Given the description of an element on the screen output the (x, y) to click on. 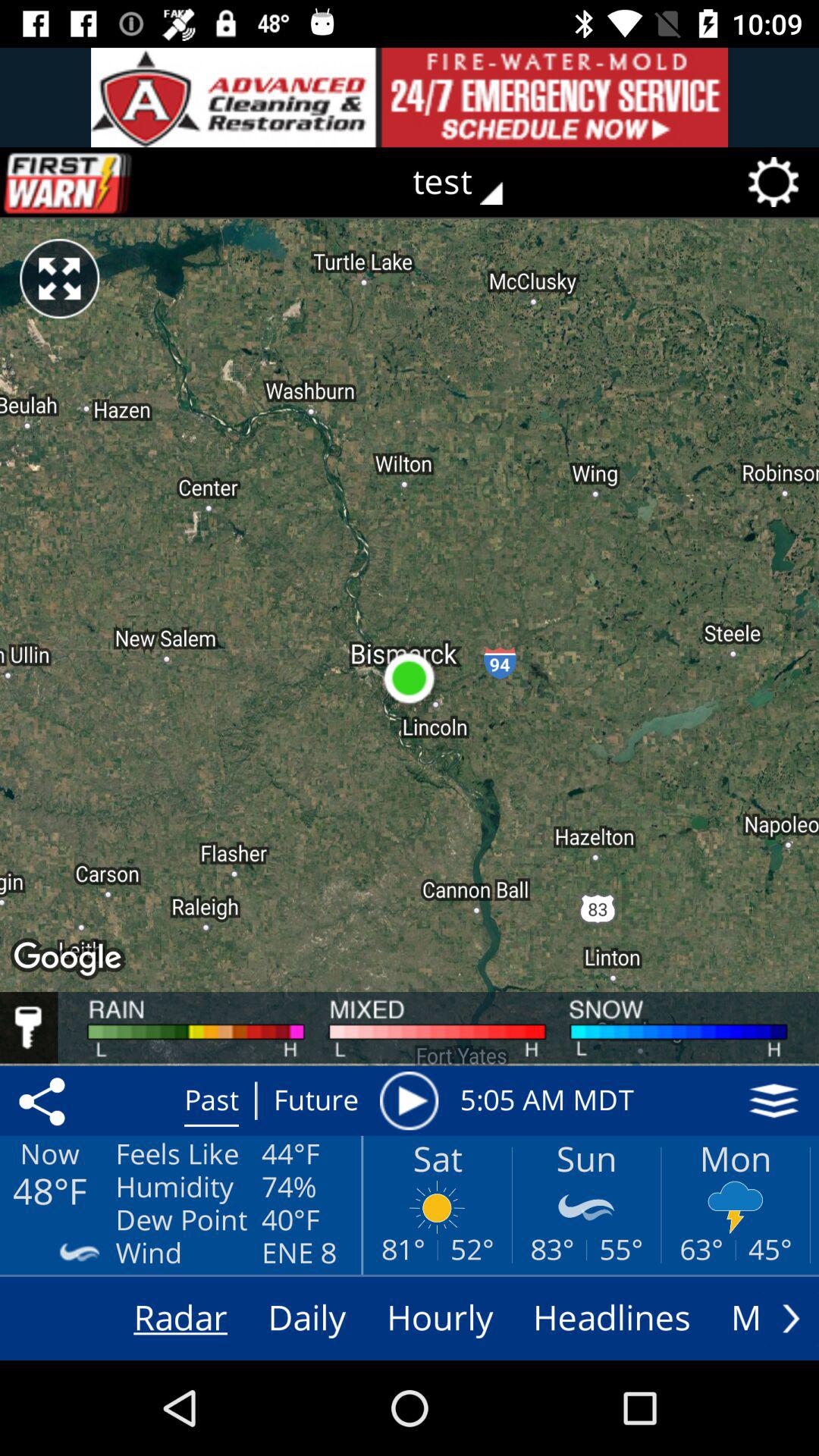
advertisement click (409, 97)
